Given the description of an element on the screen output the (x, y) to click on. 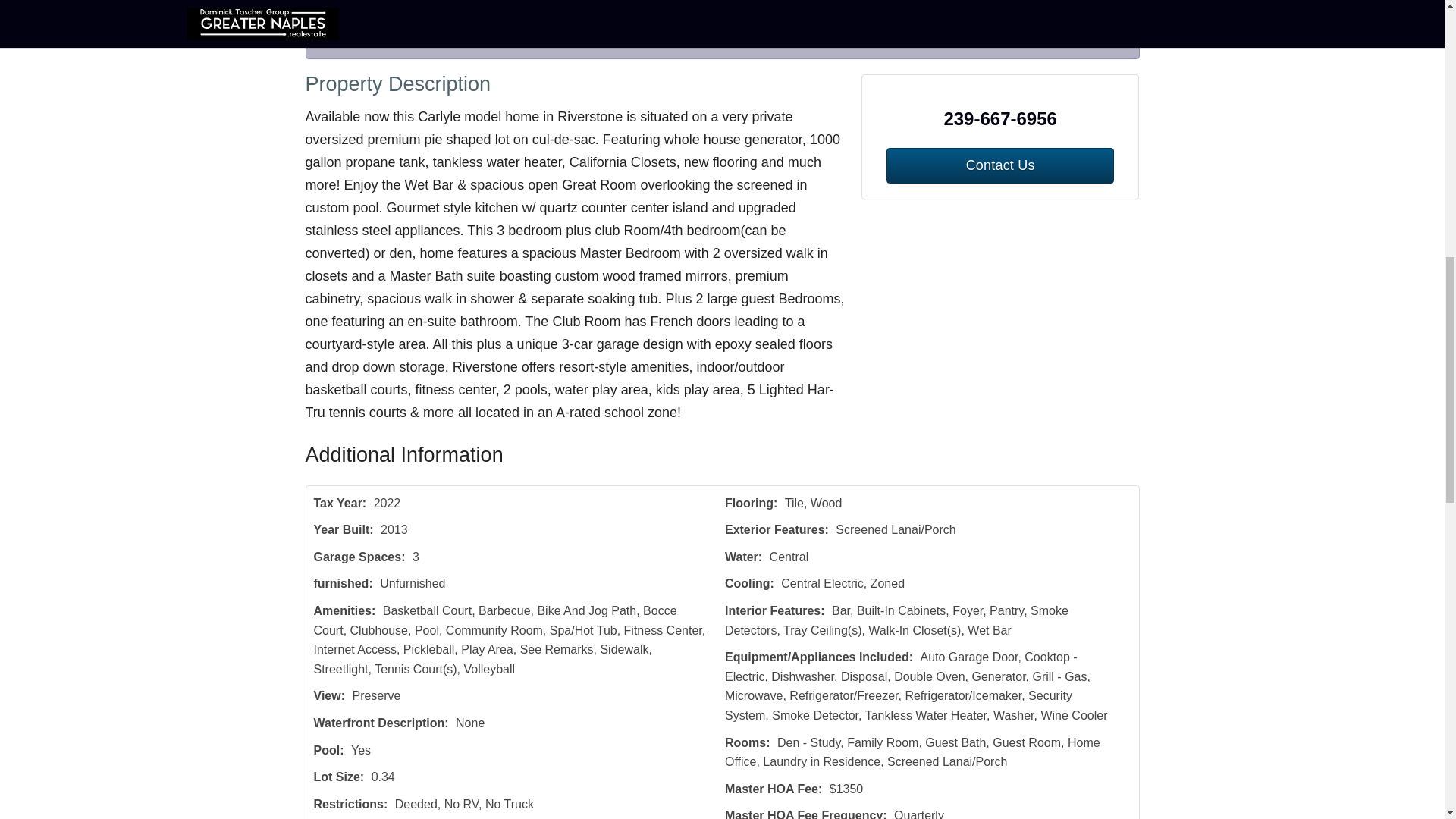
239-667-6956 (1000, 118)
Contact Us (999, 165)
New Search (1094, 40)
Call Us (427, 40)
Share (488, 40)
Contact Us (354, 40)
